Given the description of an element on the screen output the (x, y) to click on. 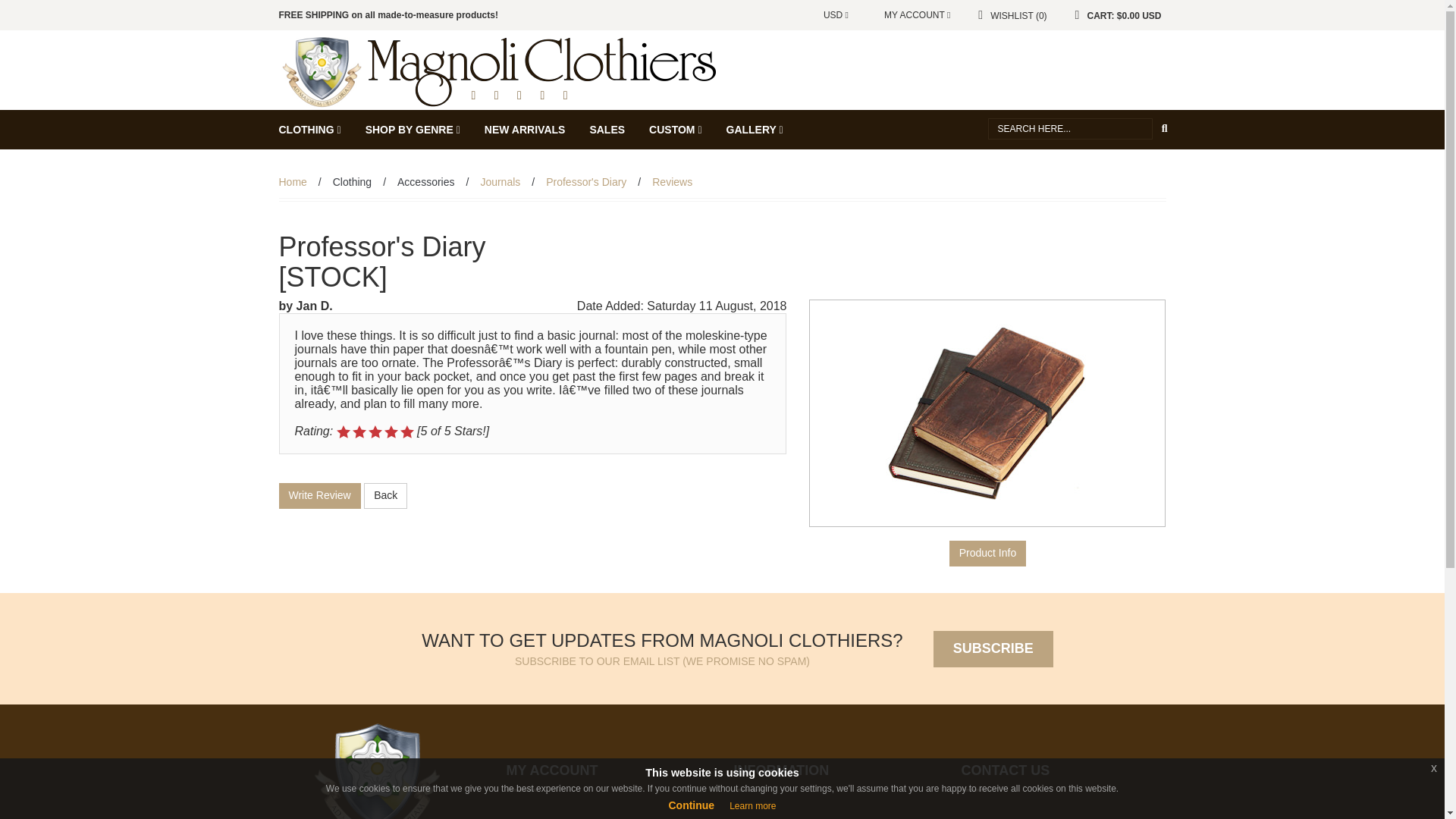
CLOTHING (309, 129)
USD (835, 15)
   MY ACCOUNT (913, 15)
 5 of 5 Stars!  (374, 431)
 Professor's Diary by Magnoli Clothiers  (499, 71)
